Given the description of an element on the screen output the (x, y) to click on. 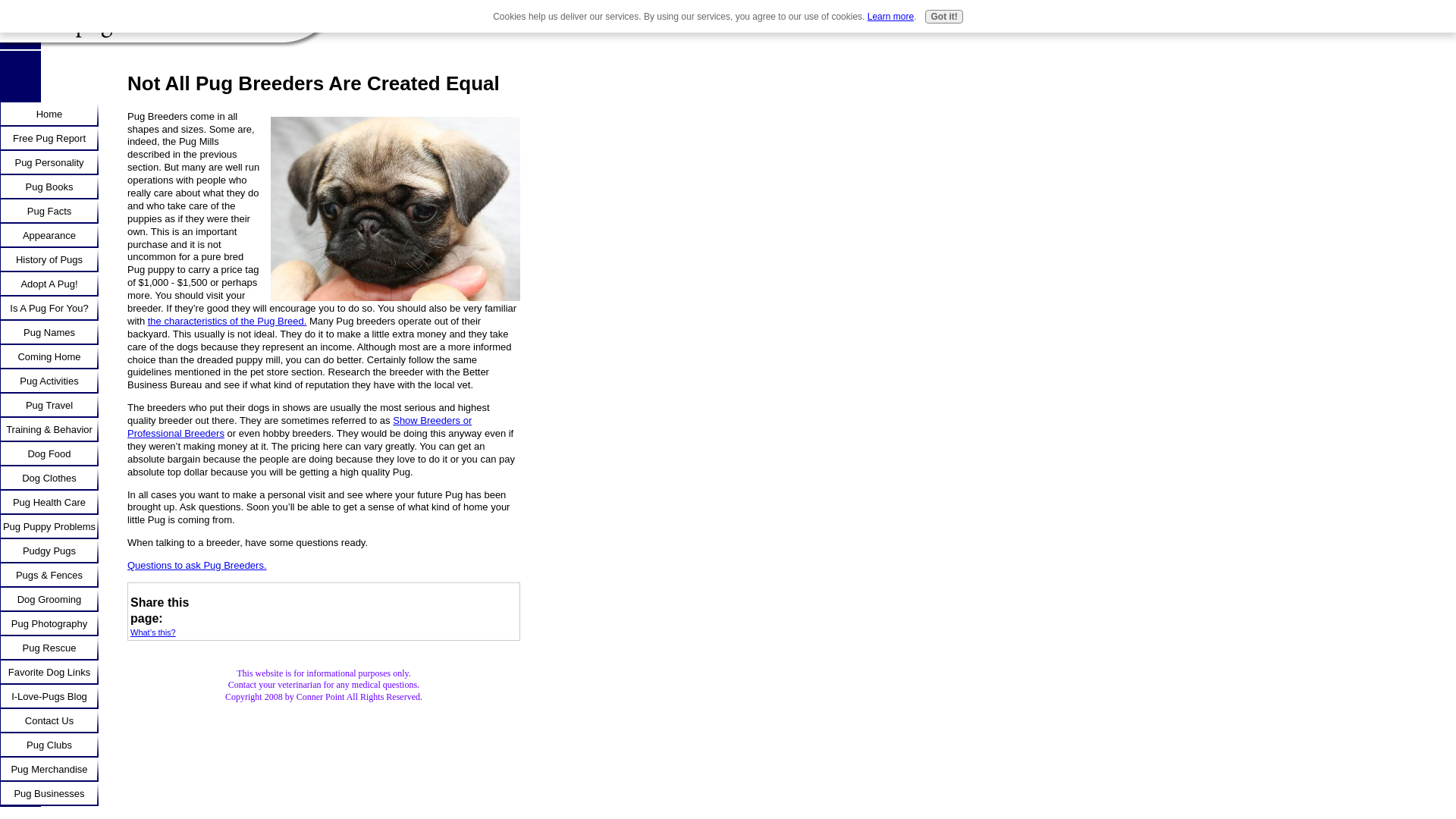
I-Love-Pugs Blog (49, 696)
Home (49, 114)
Dog Clothes (49, 478)
Questions to ask Pug Breeders. (197, 564)
Pug Facts (49, 211)
History of Pugs (49, 259)
Pug Personality (49, 162)
Pudgy Pugs (49, 550)
Pug Health Care (49, 502)
Appearance (49, 235)
Pug Clubs (49, 745)
Coming Home (49, 356)
Pug Photography (49, 623)
Pug Puppy Problems (49, 526)
Got it! (943, 16)
